Given the description of an element on the screen output the (x, y) to click on. 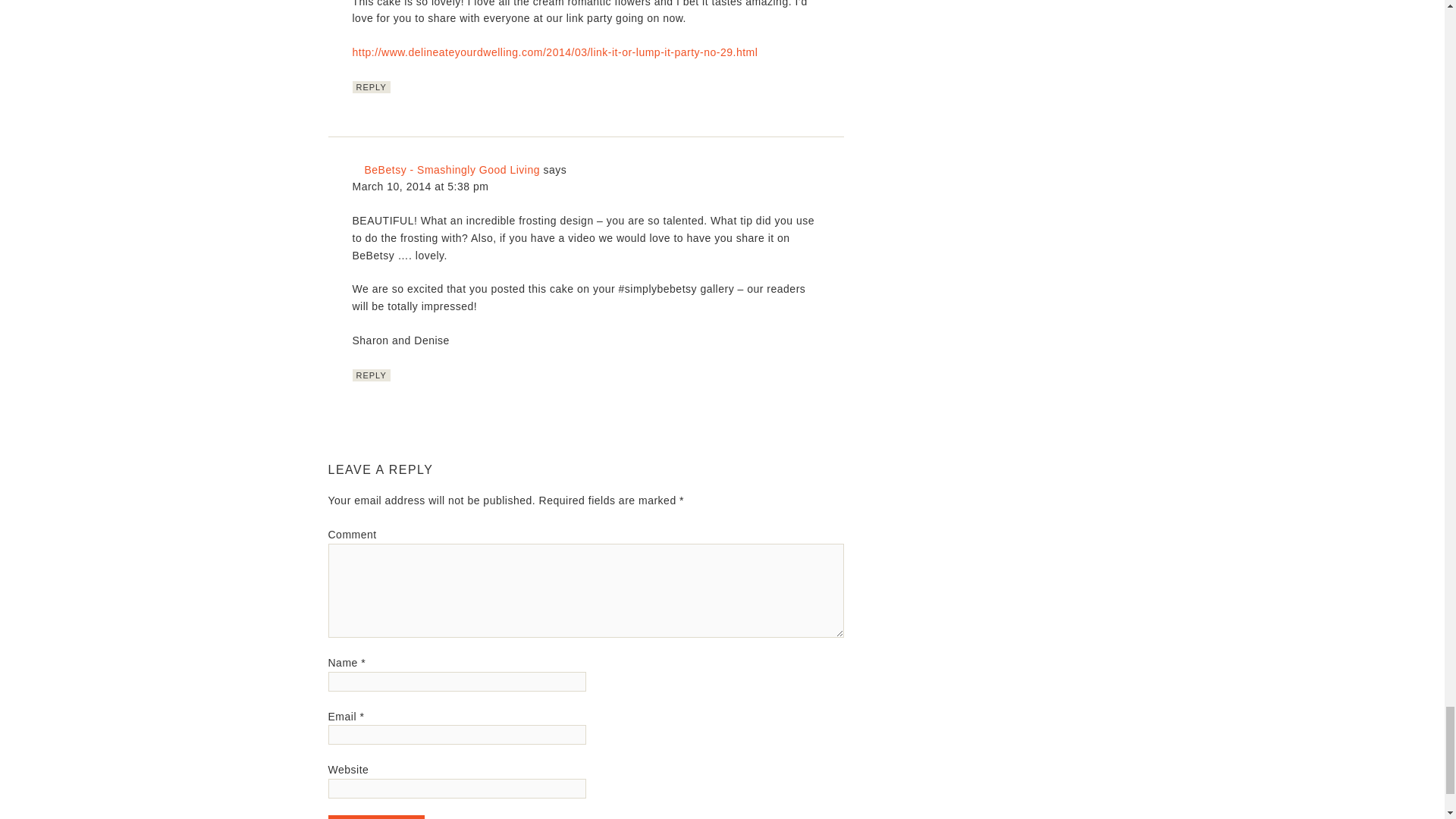
March 10, 2014 at 5:38 pm (419, 186)
Post Comment (376, 816)
REPLY (371, 87)
Post Comment (376, 816)
REPLY (371, 375)
BeBetsy - Smashingly Good Living (452, 169)
